Given the description of an element on the screen output the (x, y) to click on. 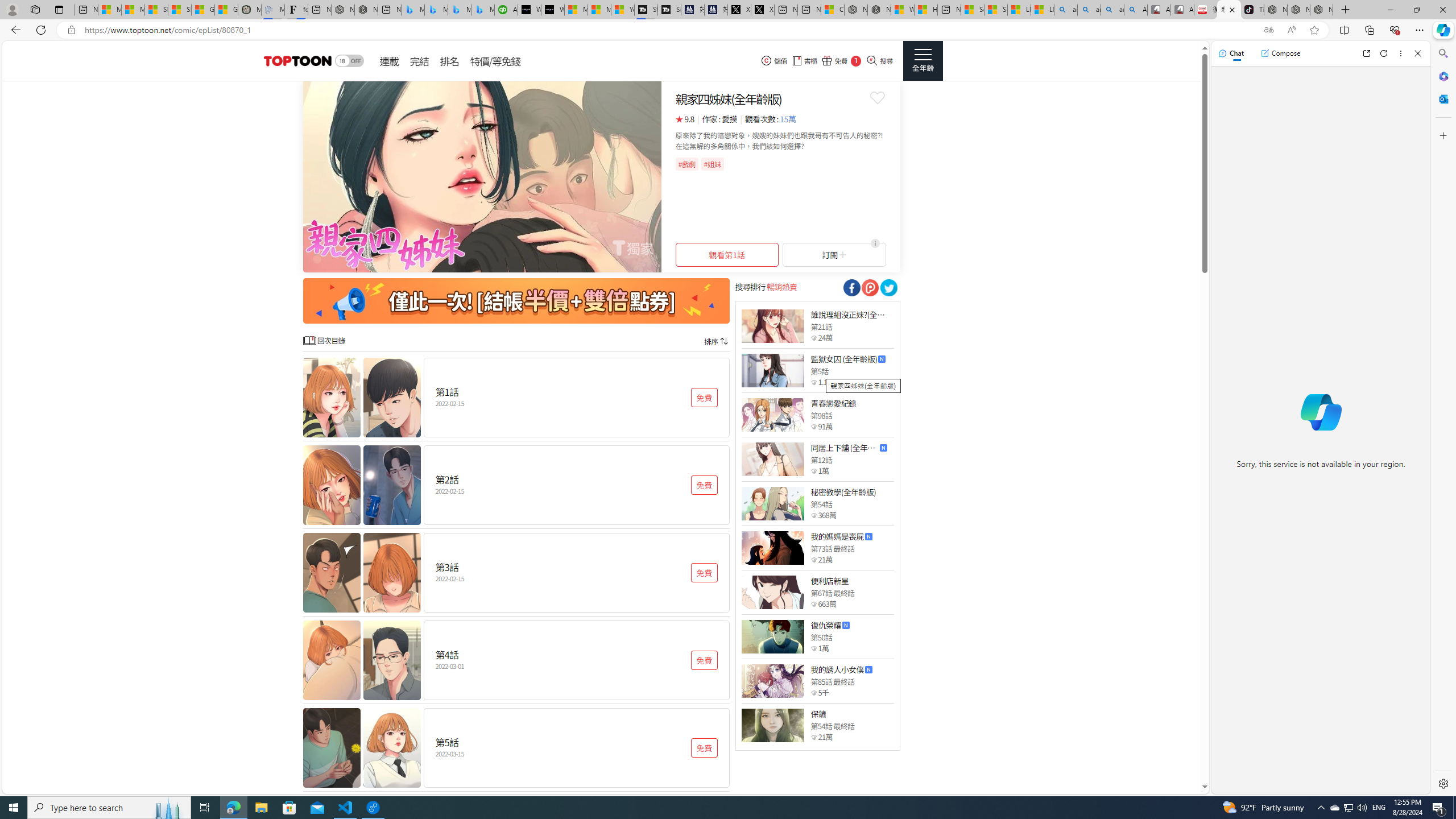
Nordace Siena Pro 15 Backpack (1298, 9)
What's the best AI voice generator? - voice.ai (552, 9)
Manatee Mortality Statistics | FWC (249, 9)
Huge shark washes ashore at New York City beach | Watch (926, 9)
Class: thumb_img (772, 725)
Gilma and Hector both pose tropical trouble for Hawaii (226, 9)
Nordace - #1 Japanese Best-Seller - Siena Smart Backpack (365, 9)
